Given the description of an element on the screen output the (x, y) to click on. 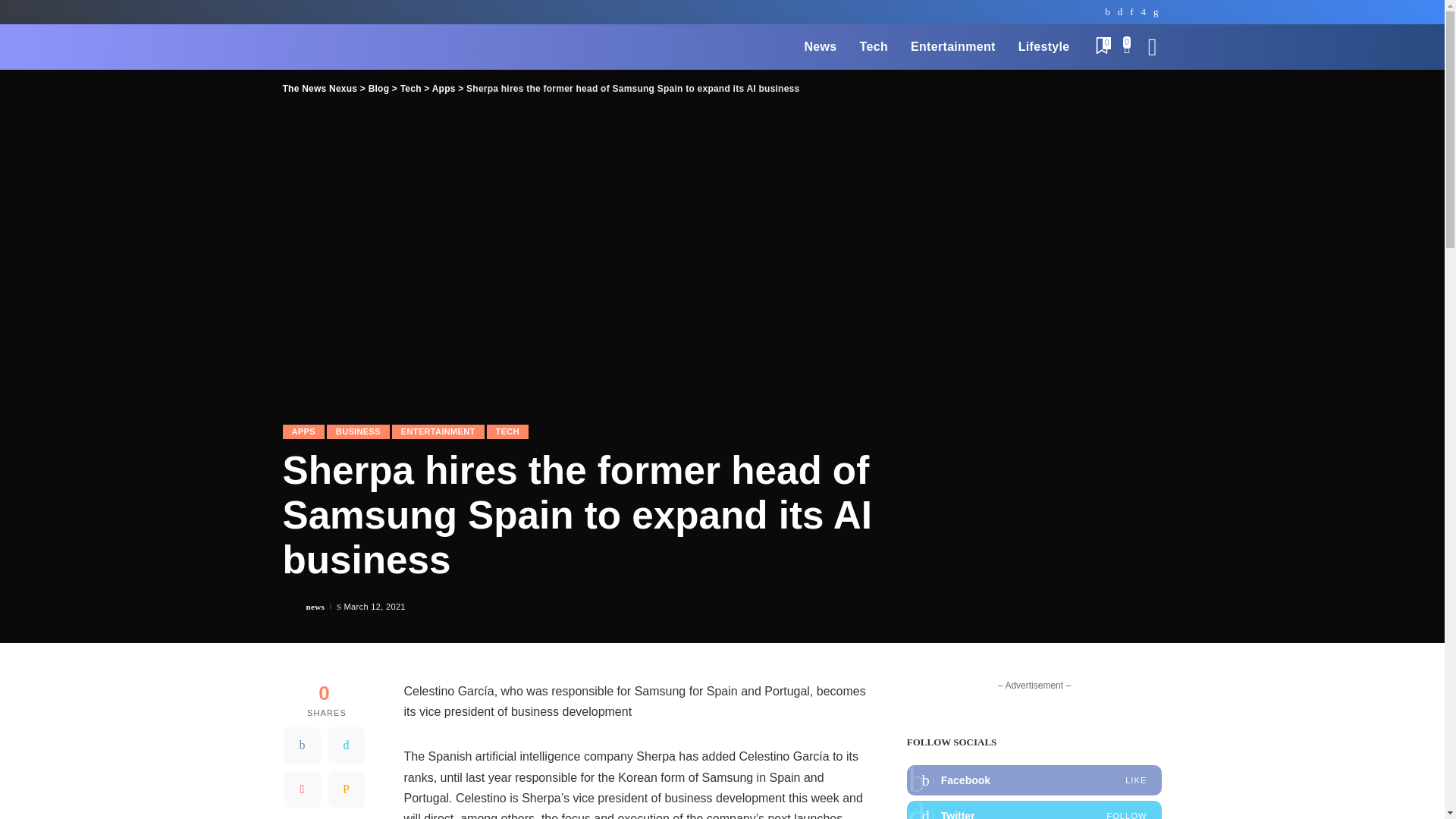
Entertainment (953, 46)
News (819, 46)
Search (1140, 89)
Tech (873, 46)
Lifestyle (1044, 46)
